Given the description of an element on the screen output the (x, y) to click on. 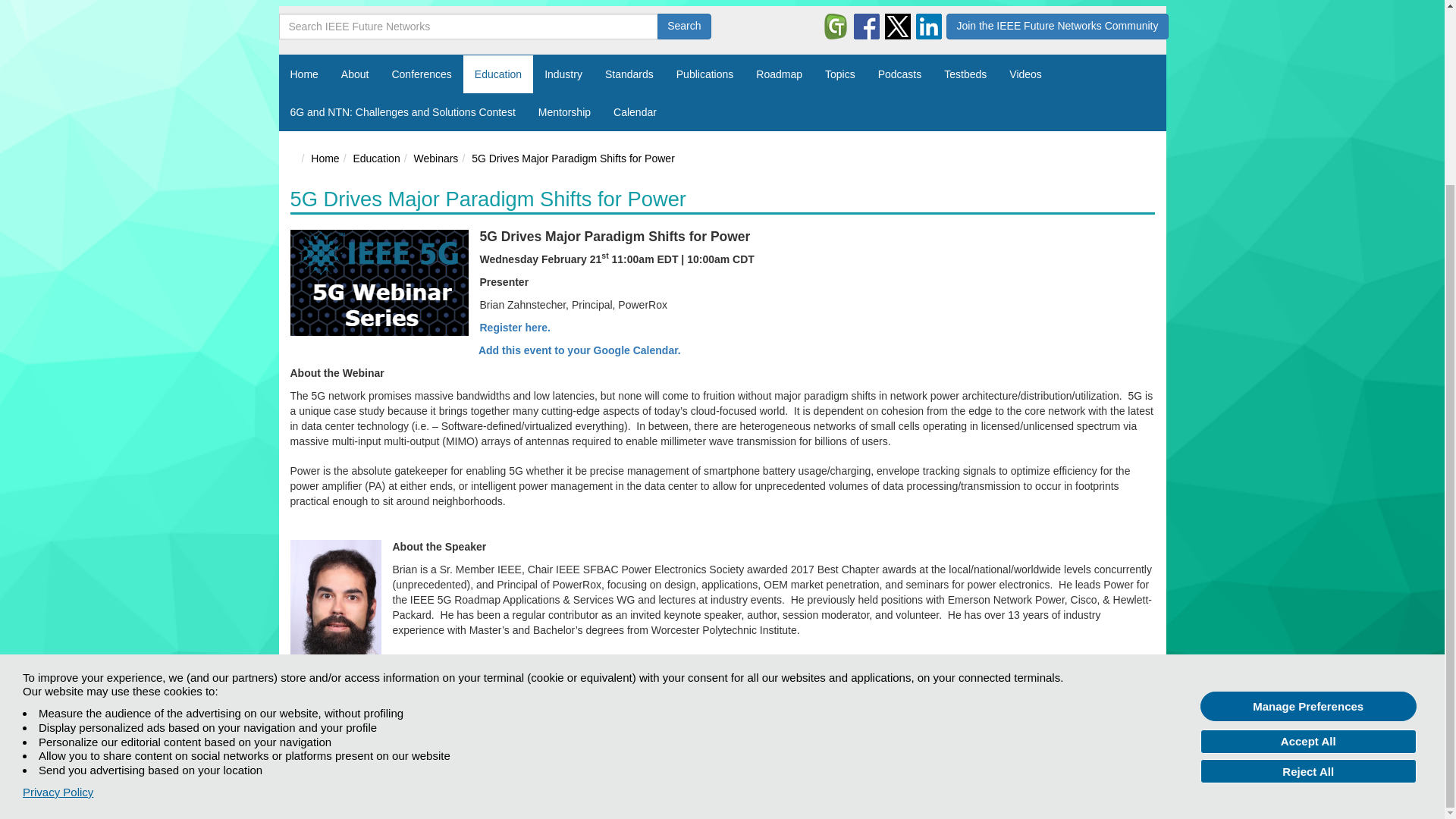
Collabratec (835, 26)
Home (302, 728)
Facebook (866, 26)
Contact IEEE Future Networks  (441, 728)
Conferences (421, 74)
Privacy Policy (58, 564)
Reject All (1307, 542)
Accept All (1307, 513)
Search (684, 26)
Home (304, 74)
Education (497, 74)
Sitemap (344, 728)
Accessibility (544, 728)
About (355, 74)
LinkedIn (928, 26)
